Given the description of an element on the screen output the (x, y) to click on. 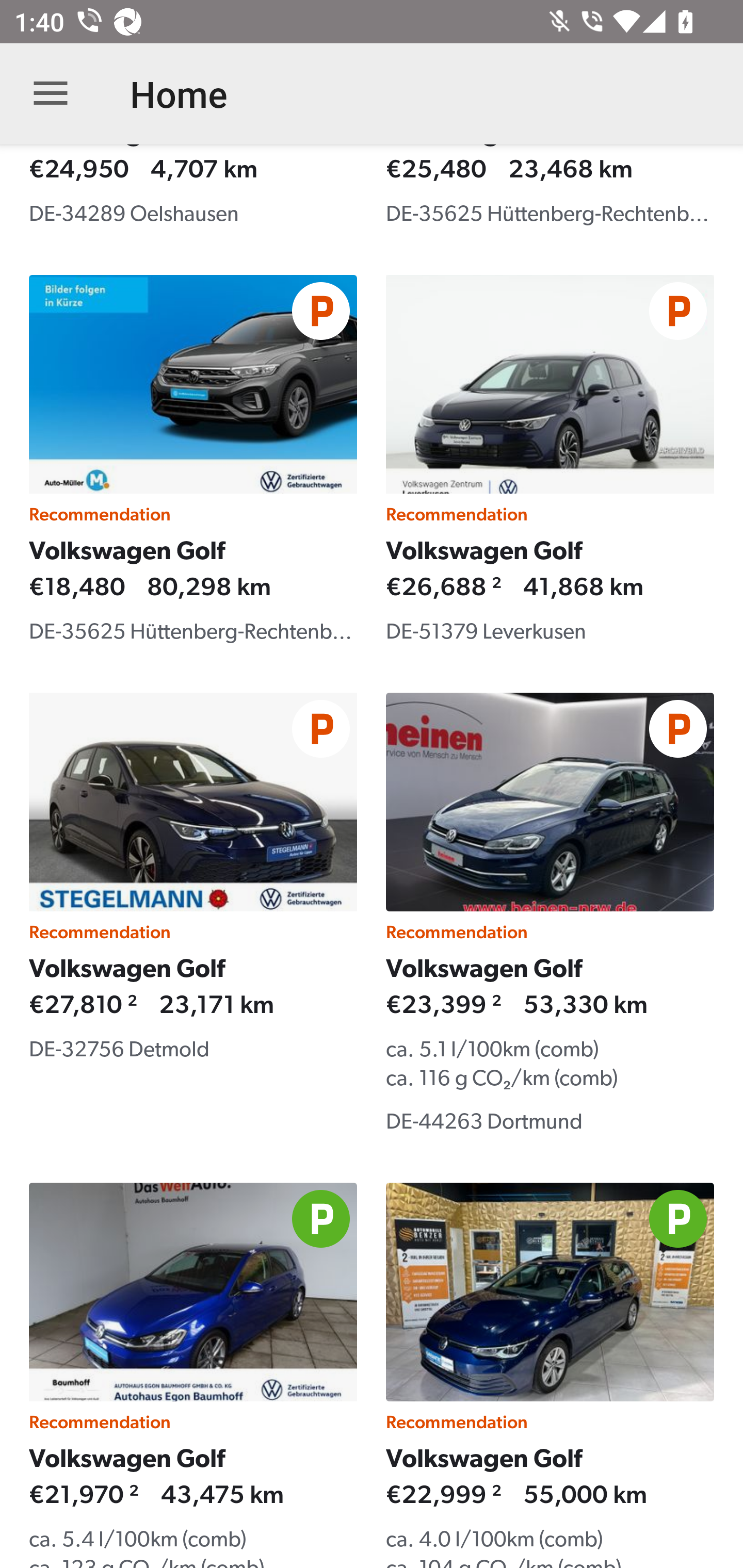
Open navigation bar (50, 93)
